Given the description of an element on the screen output the (x, y) to click on. 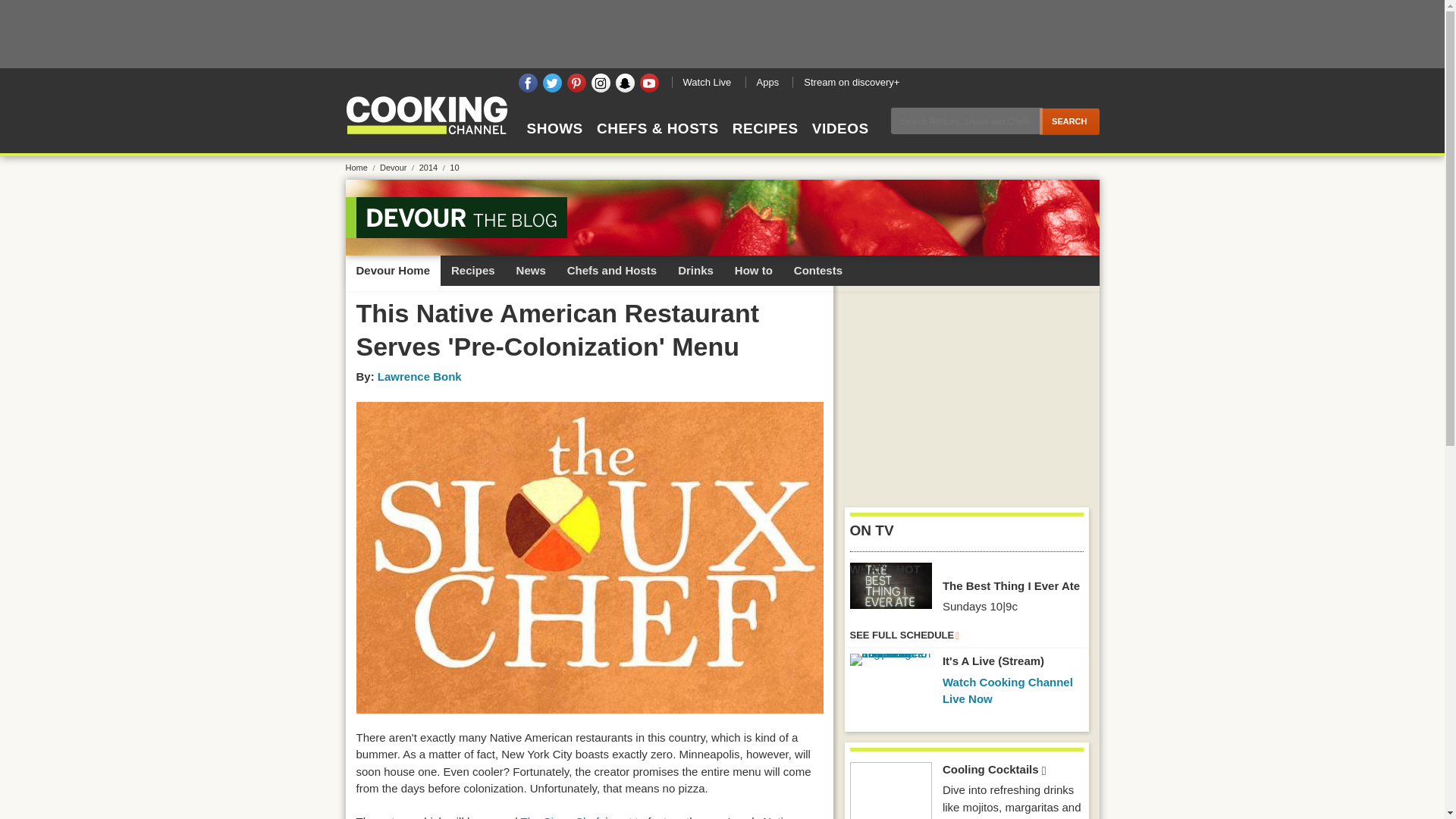
Devour (398, 166)
RECIPES (764, 141)
Apps (766, 81)
VIDEOS (840, 141)
Drinks (694, 269)
Follow us on Twitter (552, 82)
Contests (818, 269)
Follow us on Instagram (600, 82)
Follow us on Pinterest (576, 82)
Follow us on Facebook (527, 82)
Recipes (473, 269)
The Sioux Chef, (561, 816)
Follow us on Snapchat (624, 82)
Home (361, 166)
Devour Home (393, 269)
